Given the description of an element on the screen output the (x, y) to click on. 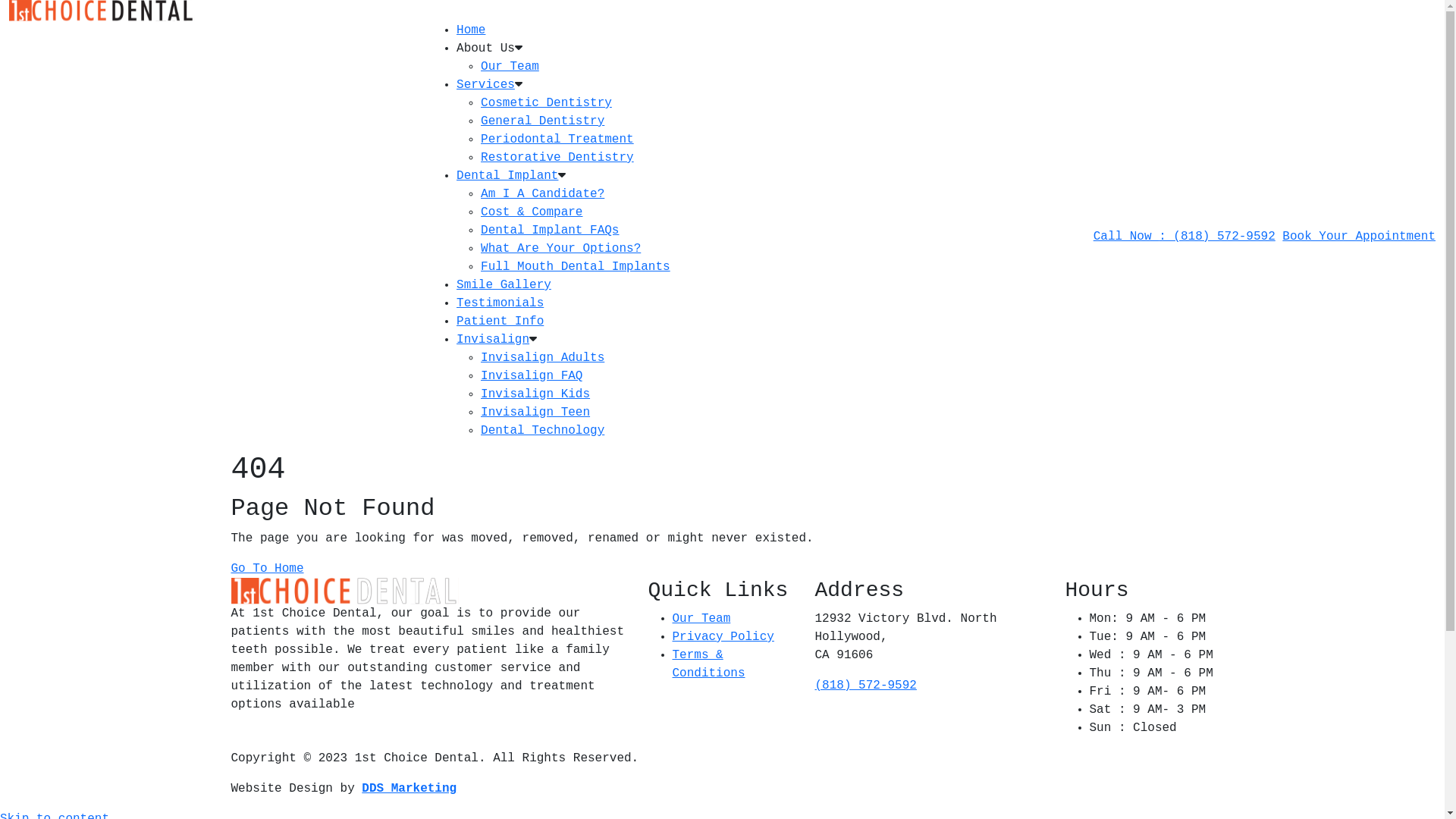
Our Team Element type: text (700, 618)
Cost & Compare Element type: text (531, 212)
Terms & Conditions Element type: text (707, 664)
Dental Technology Element type: text (542, 430)
Restorative Dentistry Element type: text (556, 157)
Go To Home Element type: text (266, 568)
Home Element type: text (470, 30)
Call Now : (818) 572-9592 Element type: text (1184, 236)
Book Your Appointment Element type: text (1358, 236)
(818) 572-9592 Element type: text (865, 685)
Patient Info Element type: text (499, 321)
Testimonials Element type: text (499, 303)
Dental Implant FAQs Element type: text (549, 230)
Periodontal Treatment Element type: text (556, 139)
What Are Your Options? Element type: text (560, 248)
Am I A Candidate? Element type: text (542, 193)
Services Element type: text (485, 84)
Cosmetic Dentistry Element type: text (545, 102)
Invisalign Adults Element type: text (542, 357)
Privacy Policy Element type: text (722, 636)
Invisalign FAQ Element type: text (531, 375)
Dental Implant Element type: text (507, 175)
Invisalign Element type: text (492, 339)
About Us Element type: text (485, 48)
Invisalign Teen Element type: text (534, 412)
Smile Gallery Element type: text (503, 284)
Our Team Element type: text (509, 66)
DDS Marketing Element type: text (408, 788)
Invisalign Kids Element type: text (534, 394)
General Dentistry Element type: text (542, 121)
Full Mouth Dental Implants Element type: text (575, 266)
